Given the description of an element on the screen output the (x, y) to click on. 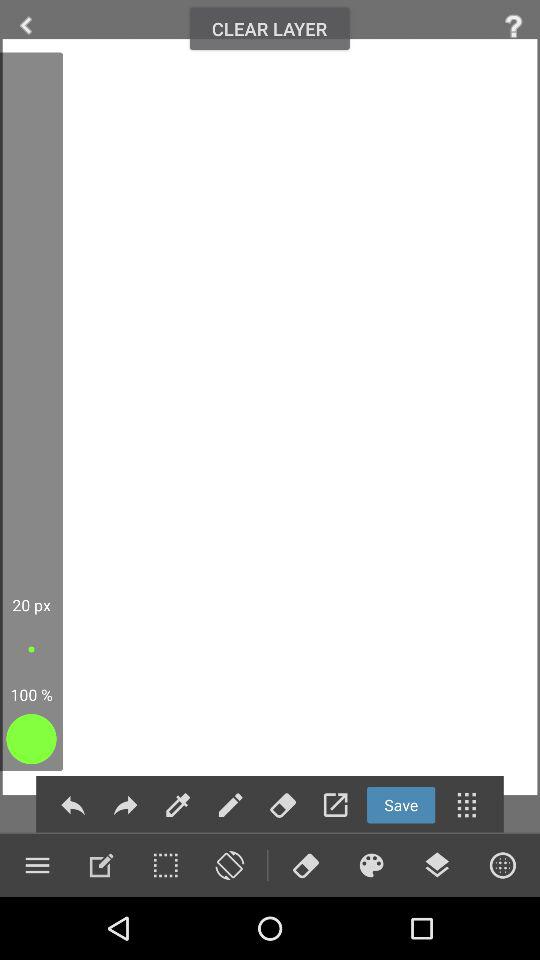
arrow to go back (26, 26)
